Given the description of an element on the screen output the (x, y) to click on. 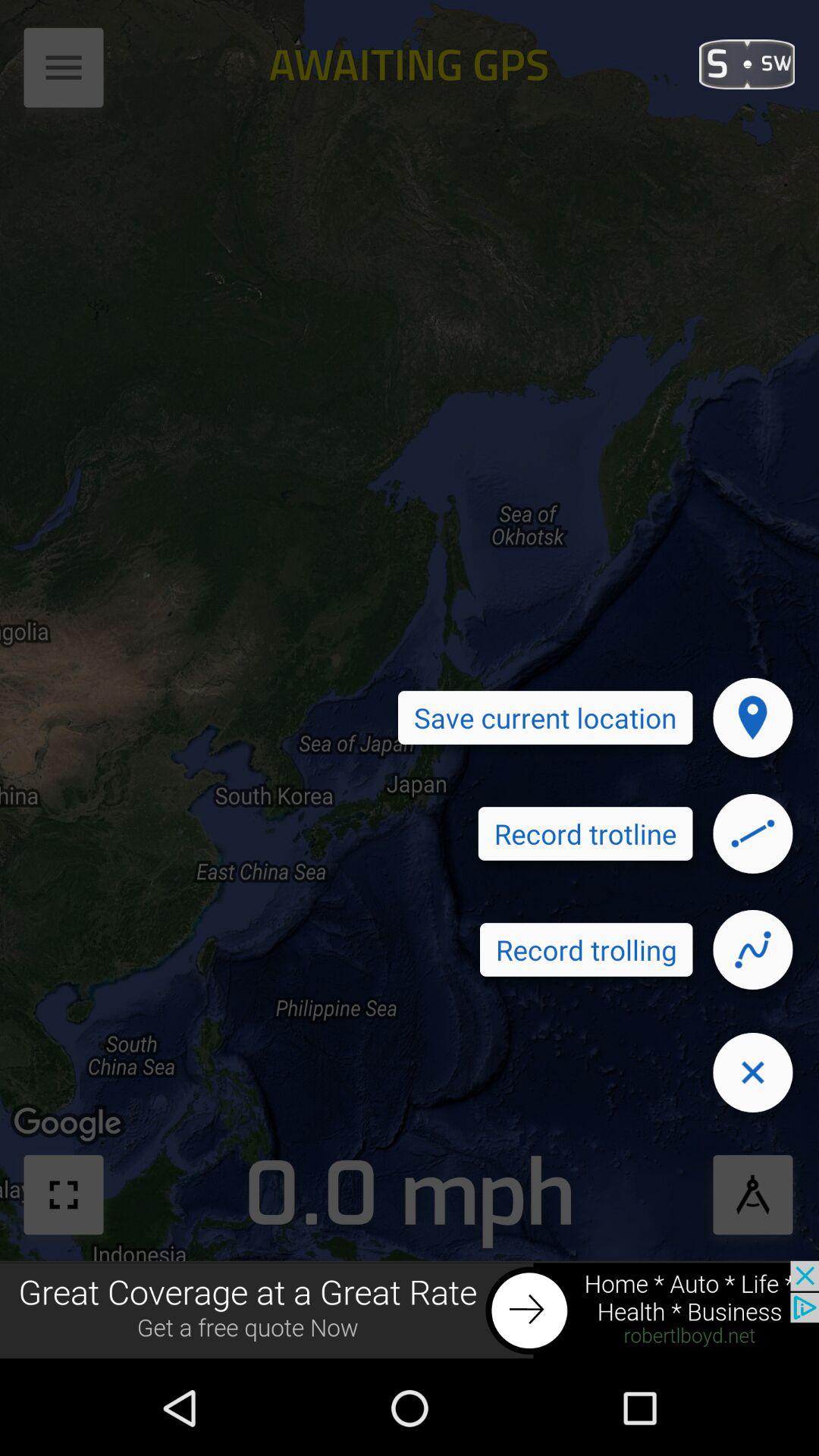
record the trotline (752, 833)
